Given the description of an element on the screen output the (x, y) to click on. 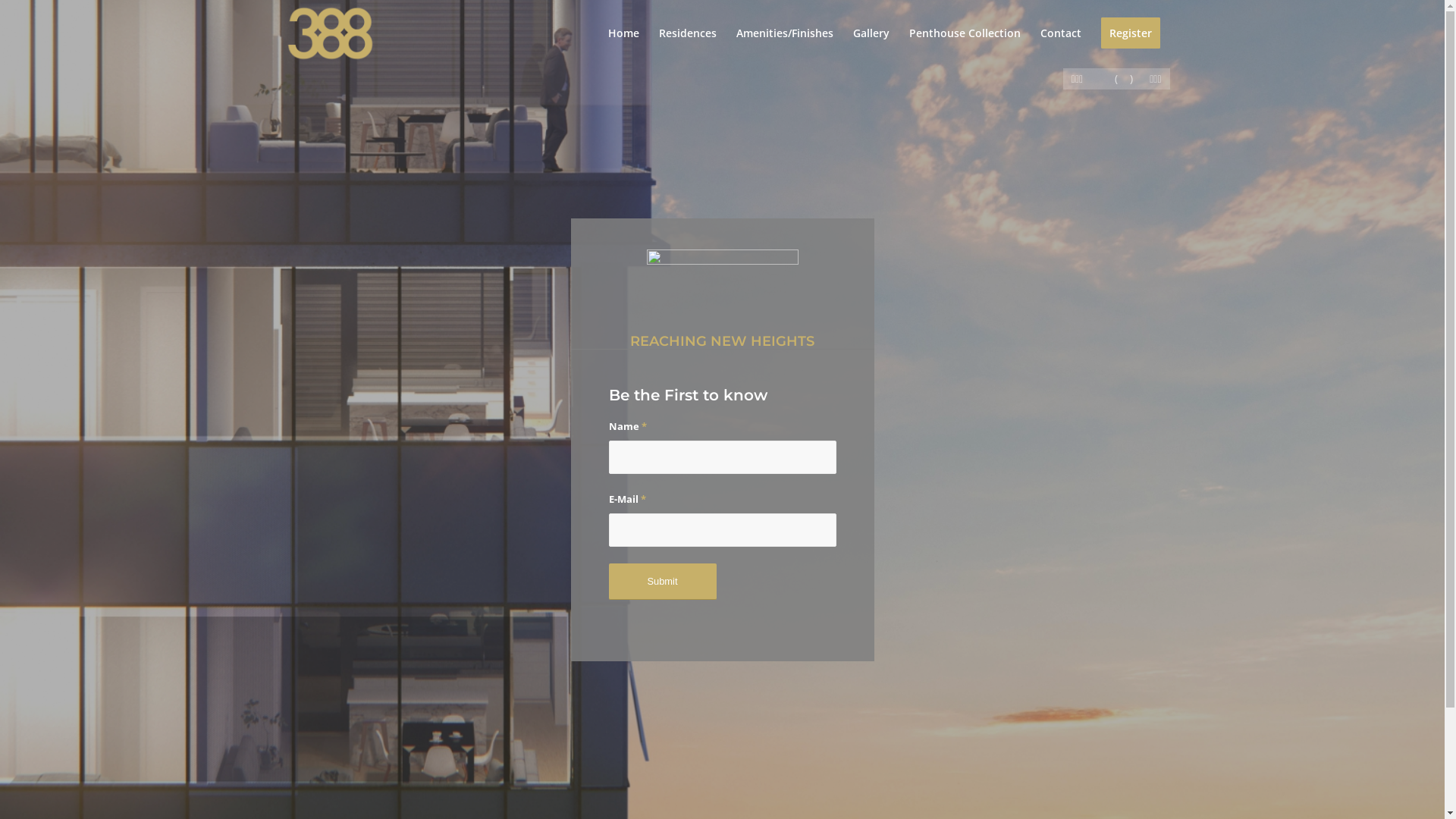
Register Element type: text (1129, 33)
Residences Element type: text (687, 33)
Submit Element type: text (661, 581)
Amenities/Finishes Element type: text (784, 33)
Penthouse Collection Element type: text (964, 33)
Contact Element type: text (1059, 33)
Submit Element type: text (638, 602)
Gallery Element type: text (871, 33)
Home Element type: text (622, 33)
